Given the description of an element on the screen output the (x, y) to click on. 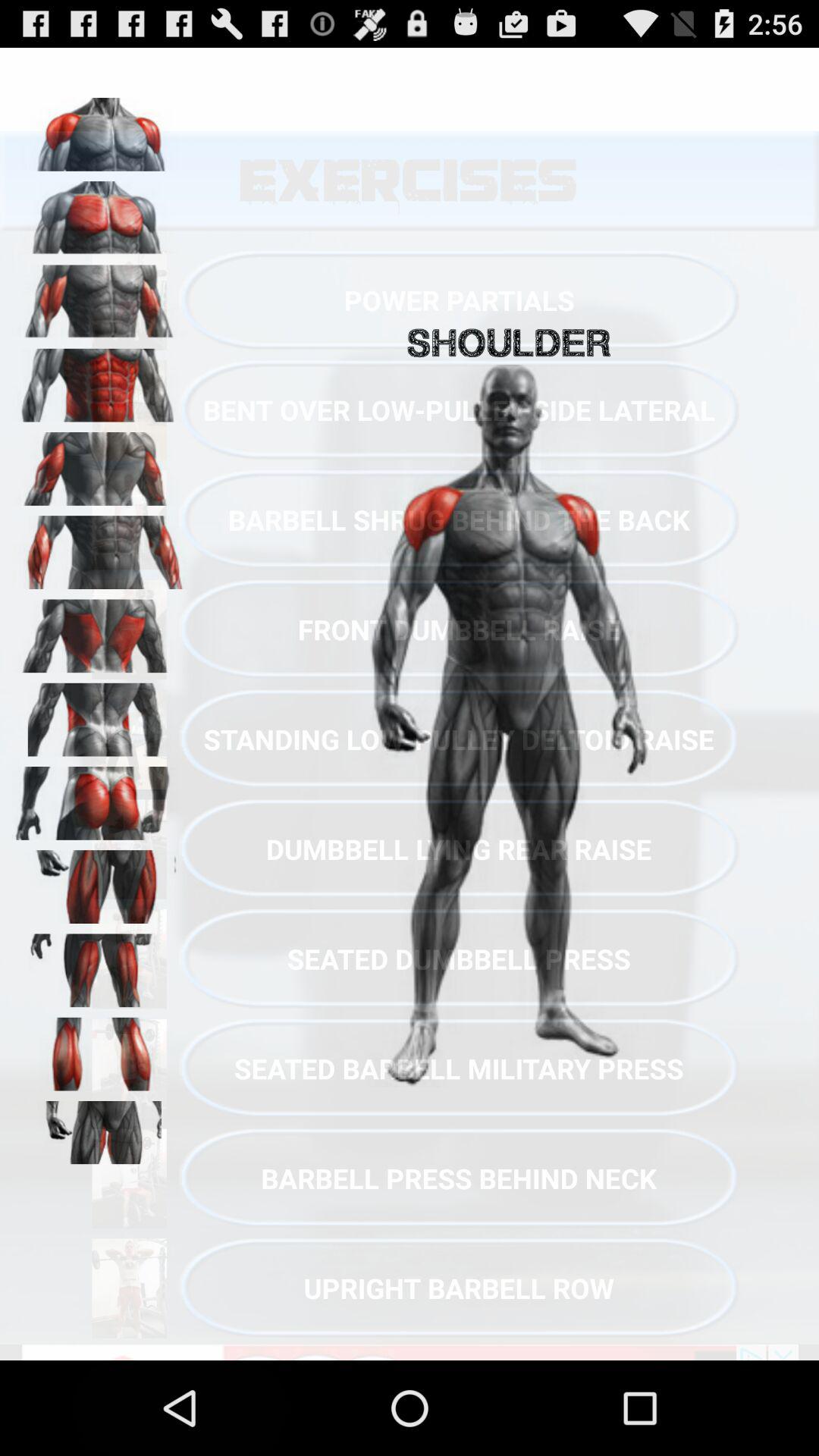
click to see this image (99, 296)
